Given the description of an element on the screen output the (x, y) to click on. 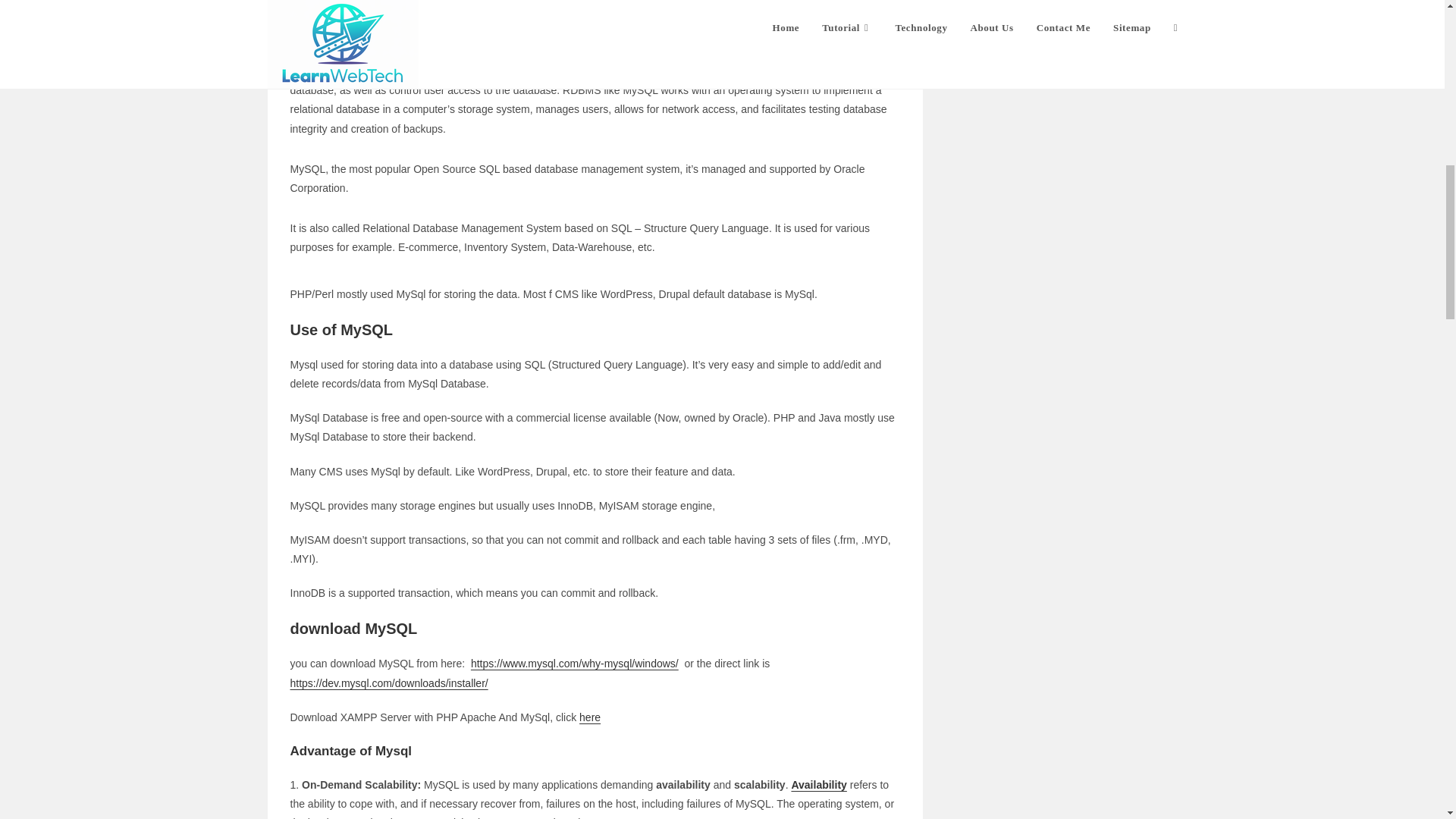
Availability (817, 784)
Advertisement (594, 11)
here (589, 717)
